Given the description of an element on the screen output the (x, y) to click on. 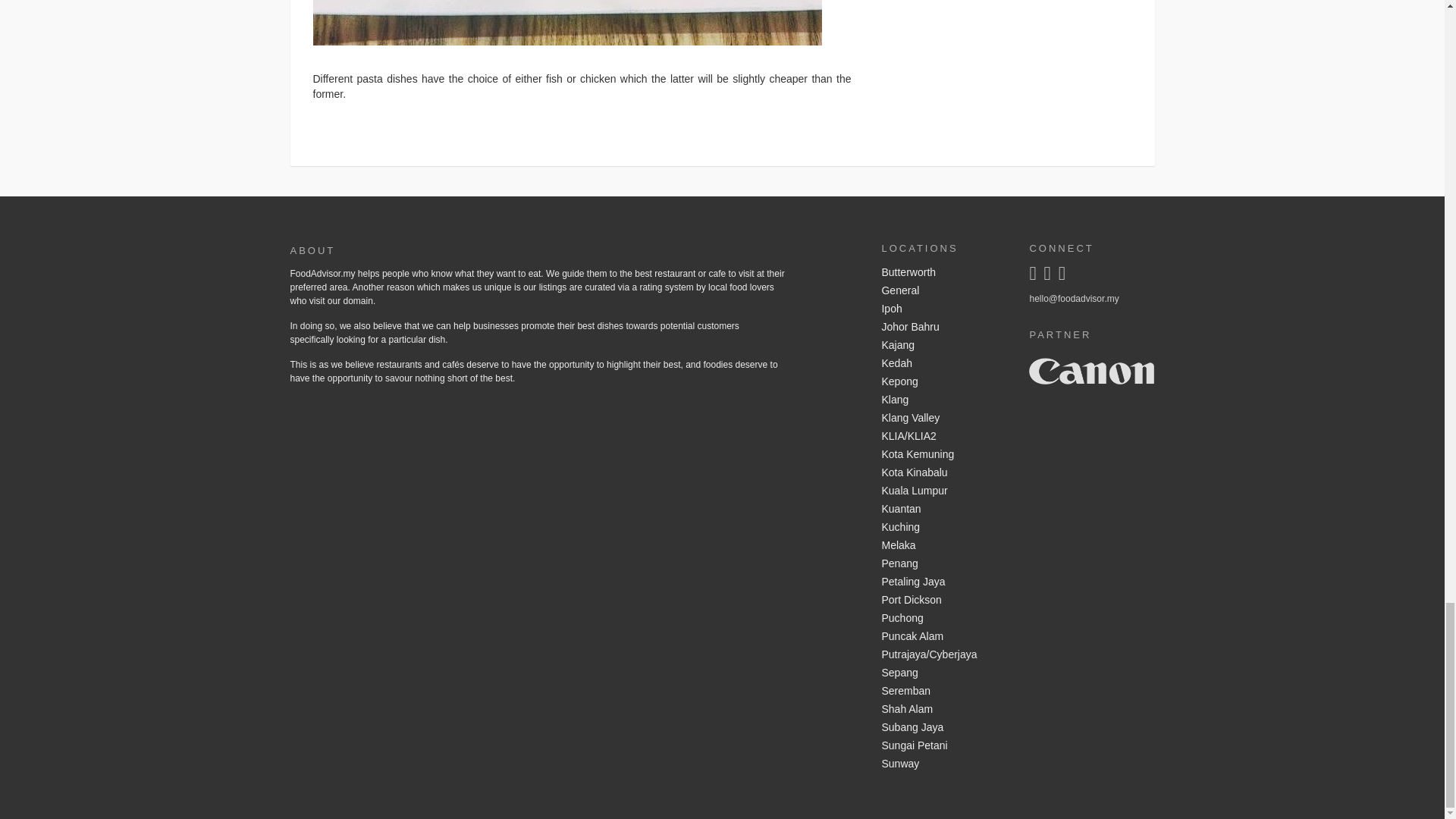
Kota Kinabalu (943, 473)
Kepong (943, 382)
Penang (943, 564)
Klang (943, 400)
Butterworth (943, 272)
Petaling Jaya (943, 582)
Kedah (943, 363)
Kuching (943, 527)
Kuantan (943, 509)
Port Dickson (943, 600)
Kuala Lumpur (943, 491)
Melaka (943, 546)
Klang Valley (943, 418)
Puchong (943, 618)
Johor Bahru (943, 327)
